Given the description of an element on the screen output the (x, y) to click on. 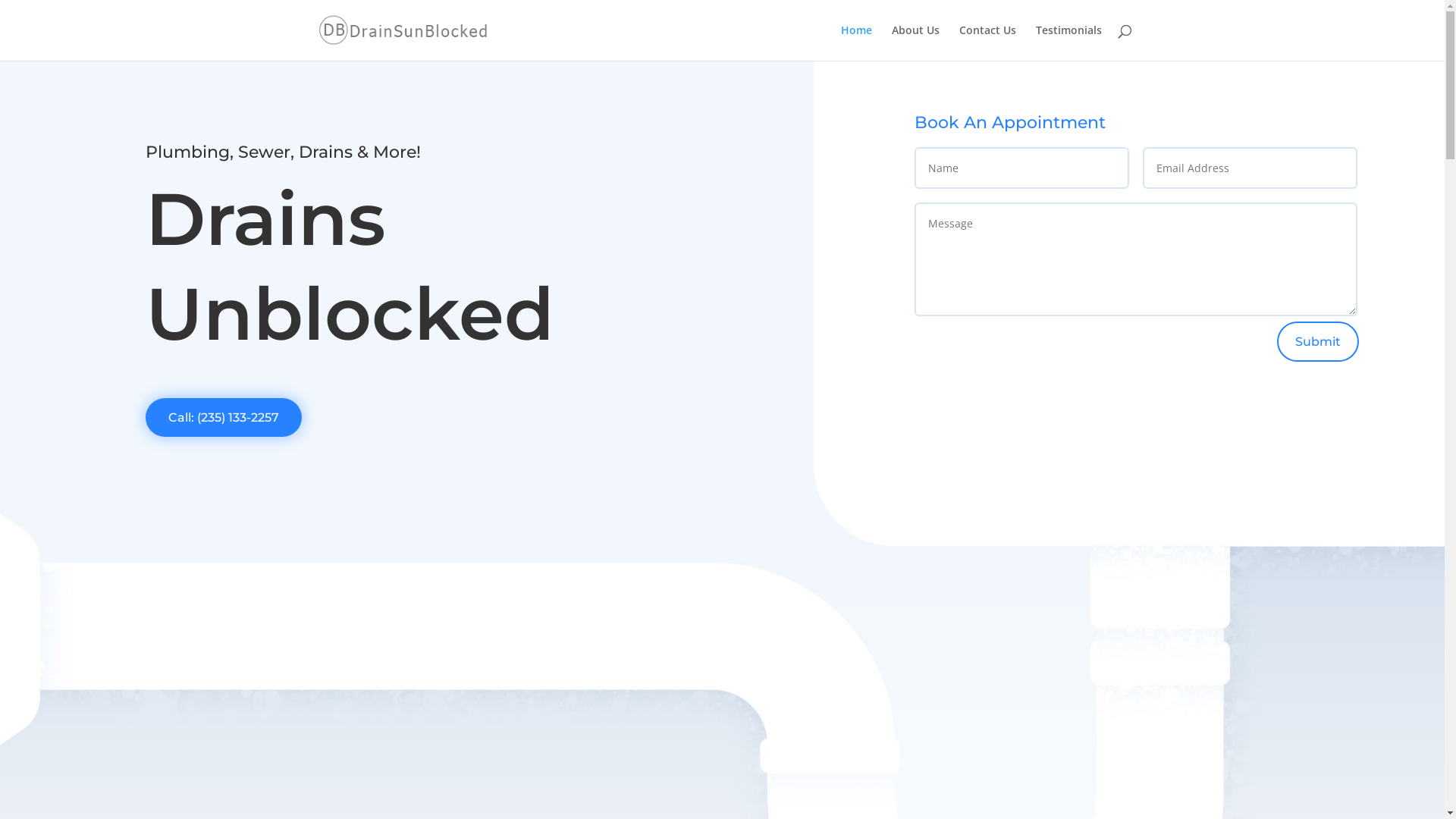
Contact Us Element type: text (986, 42)
About Us Element type: text (915, 42)
Submit Element type: text (1317, 341)
Home Element type: text (855, 42)
Testimonials Element type: text (1068, 42)
Call: (235) 133-2257 Element type: text (223, 417)
